Given the description of an element on the screen output the (x, y) to click on. 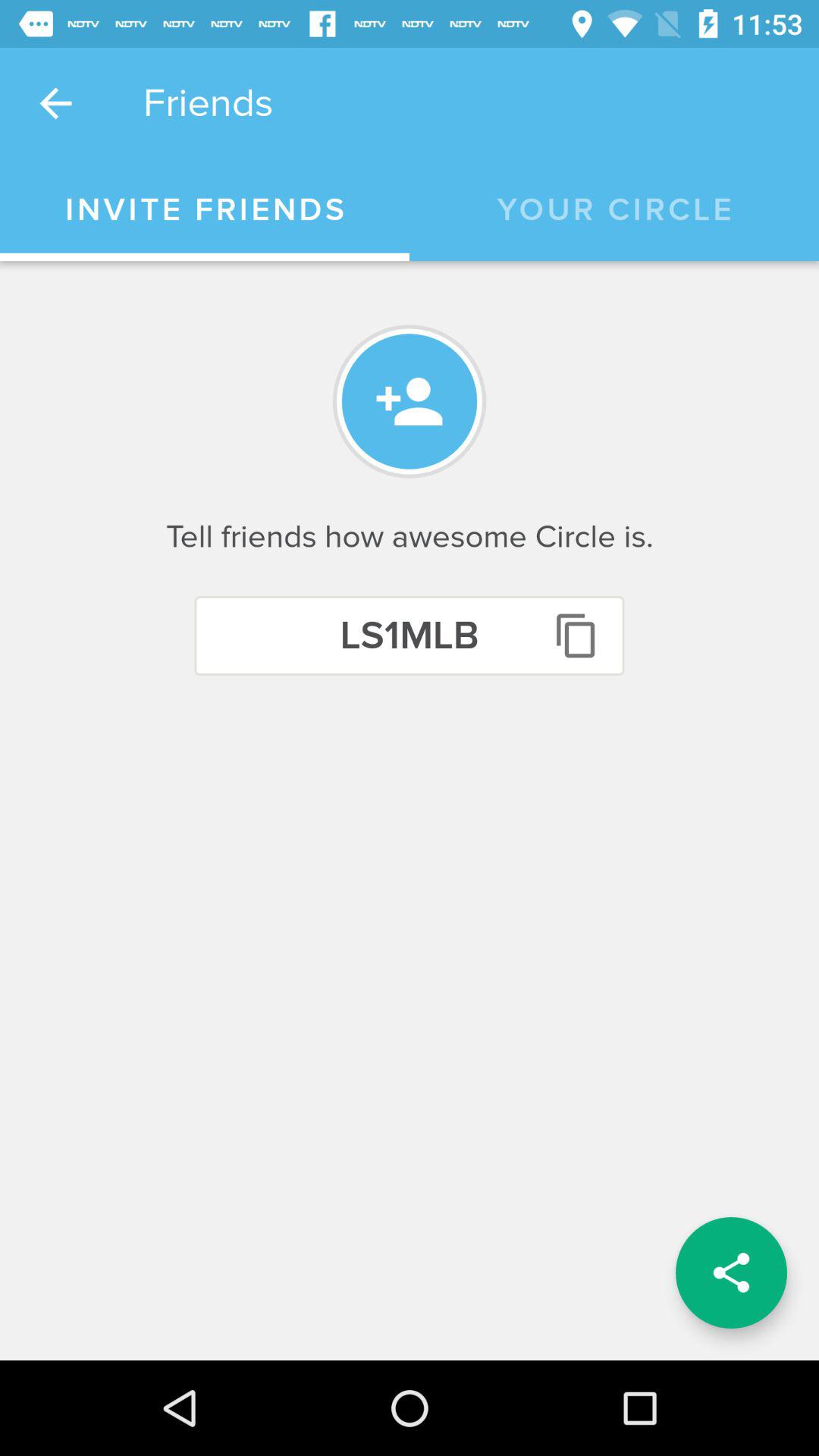
click the item above the invite friends app (55, 103)
